Given the description of an element on the screen output the (x, y) to click on. 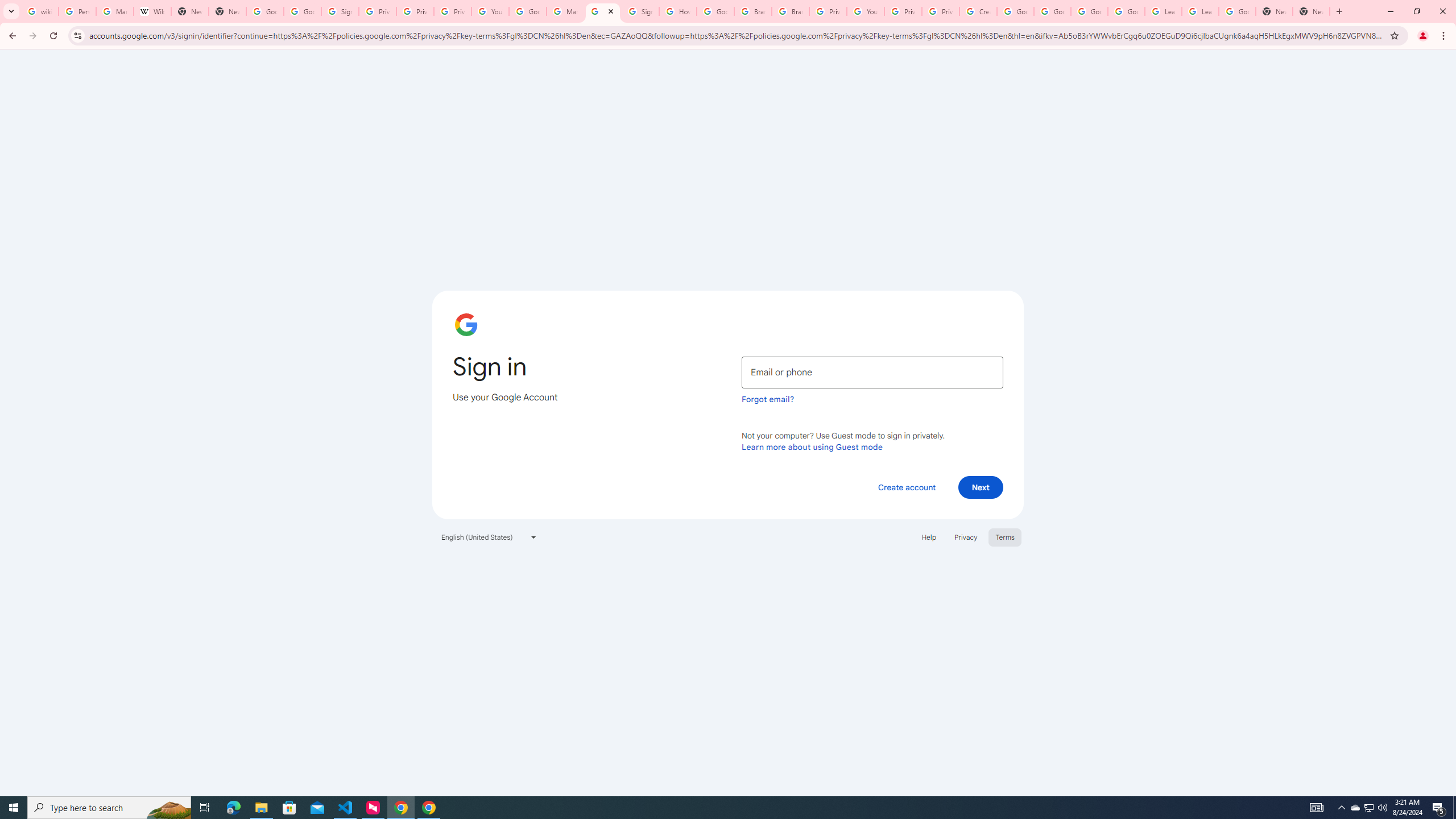
Learn more about using Guest mode (812, 446)
New Tab (1311, 11)
Manage your Location History - Google Search Help (114, 11)
New Tab (1273, 11)
Google Account Help (527, 11)
Email or phone (872, 372)
Forgot email? (767, 398)
Google Account Help (1126, 11)
